Given the description of an element on the screen output the (x, y) to click on. 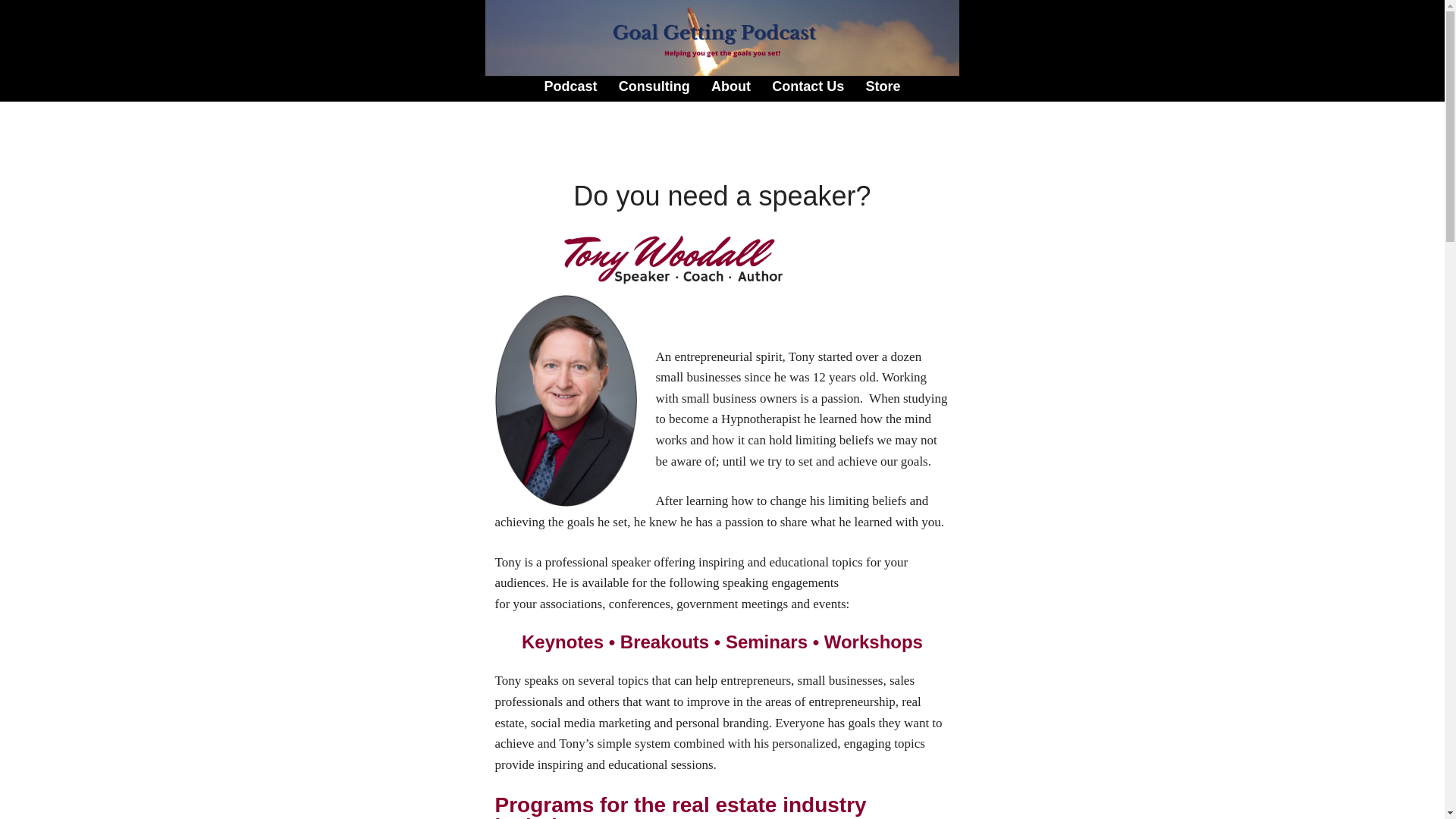
Goal Getting Podcast (721, 38)
Contact Us (807, 88)
About (730, 88)
Store (883, 88)
Podcast (569, 88)
Consulting (654, 88)
